Given the description of an element on the screen output the (x, y) to click on. 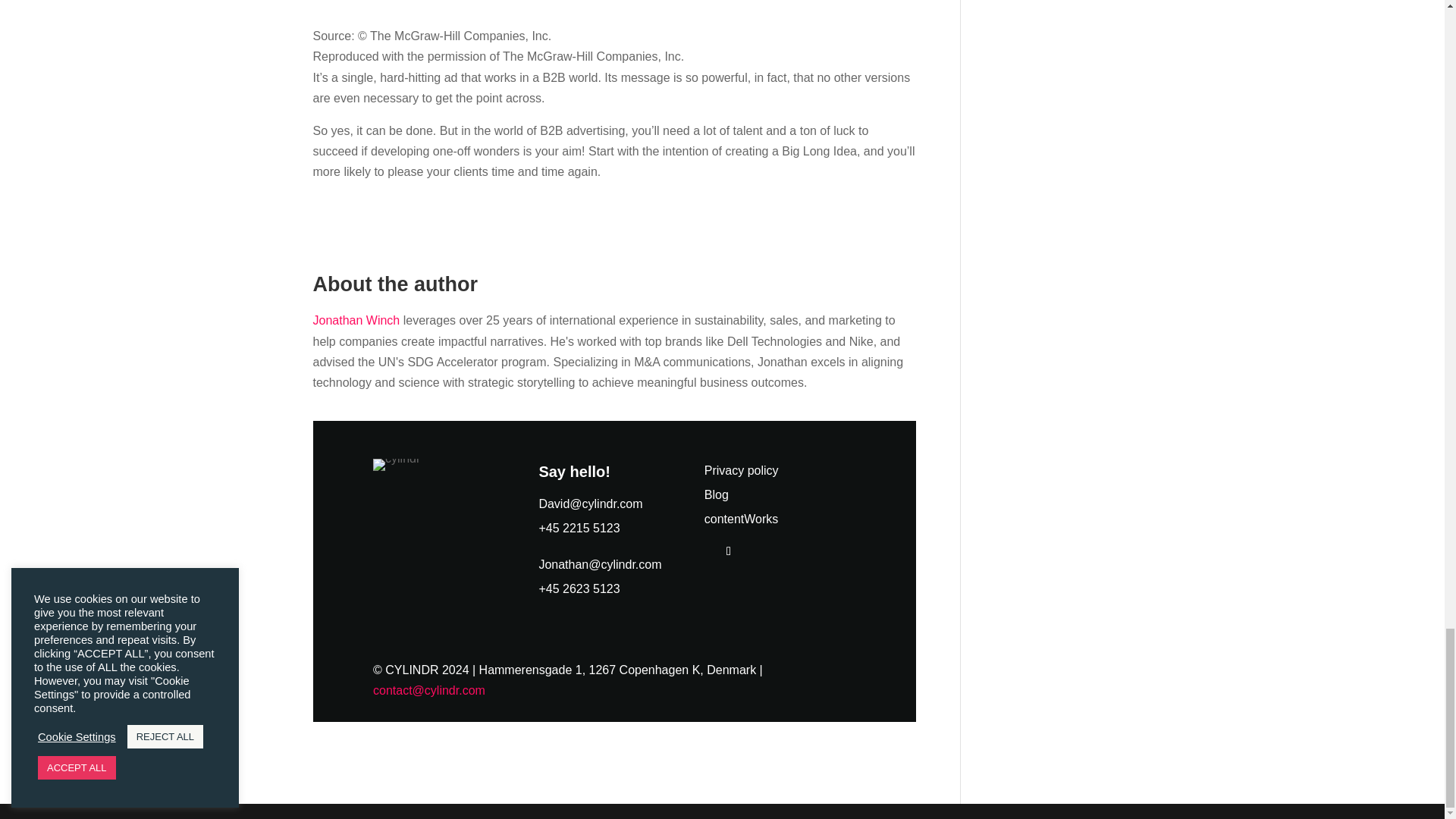
Blog (716, 494)
Jonathan Winch (355, 319)
contentWorks (741, 518)
Cylindr-White (396, 464)
Privacy policy (741, 470)
Follow on LinkedIn (728, 550)
